Given the description of an element on the screen output the (x, y) to click on. 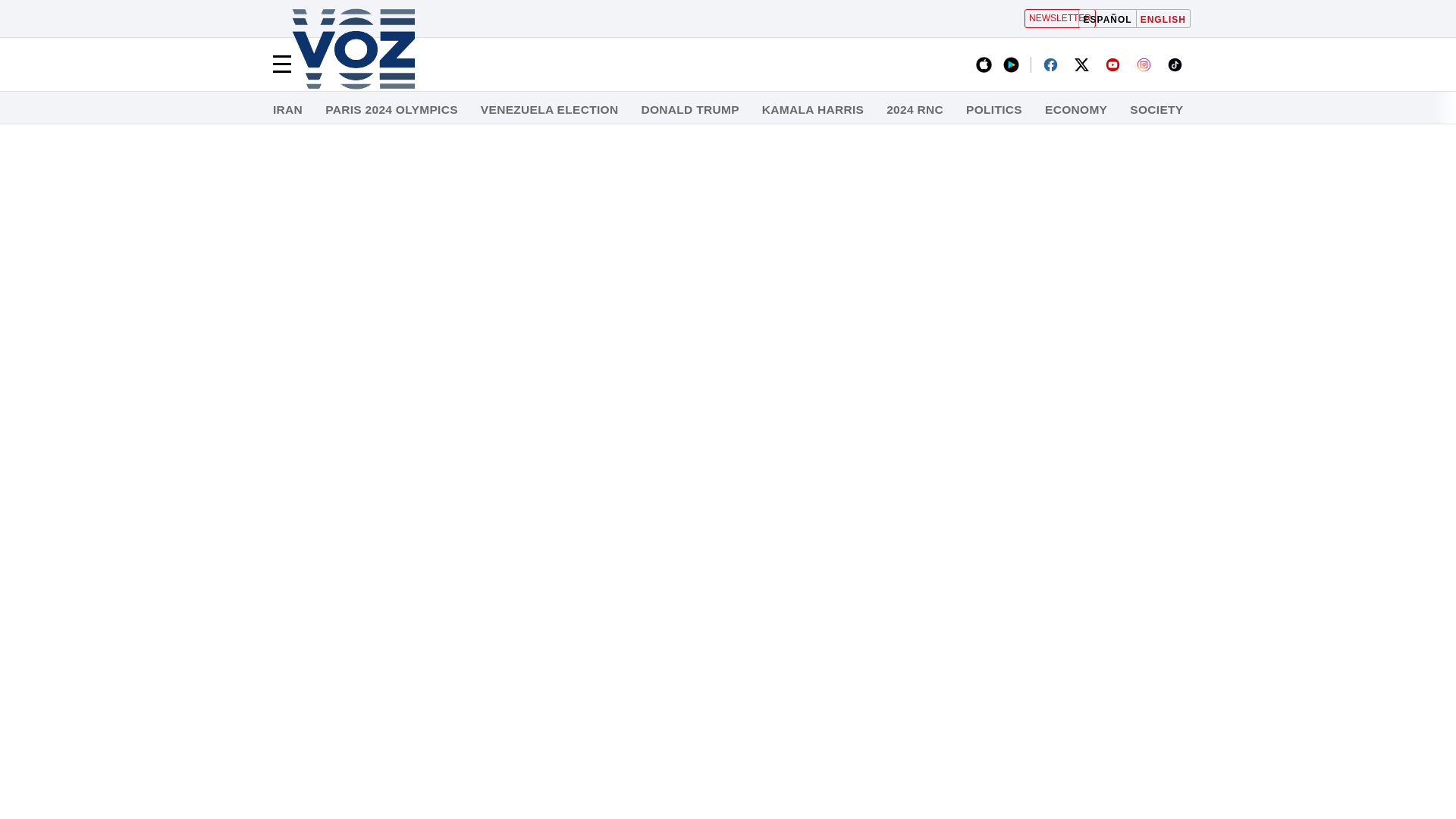
Voz.us (353, 50)
2024 RNC (914, 110)
PARIS 2024 OLYMPICS (391, 110)
Sports (1372, 110)
Politics (994, 110)
VENEZUELA ELECTION (549, 110)
Venezuela election (549, 110)
ENGLISH (1163, 18)
Paris 2024 Olympics (391, 110)
SPORTS (1372, 110)
World (1301, 110)
Donald Trump (689, 110)
POLITICS (994, 110)
DONALD TRUMP (689, 110)
SOCIETY (1155, 110)
